Given the description of an element on the screen output the (x, y) to click on. 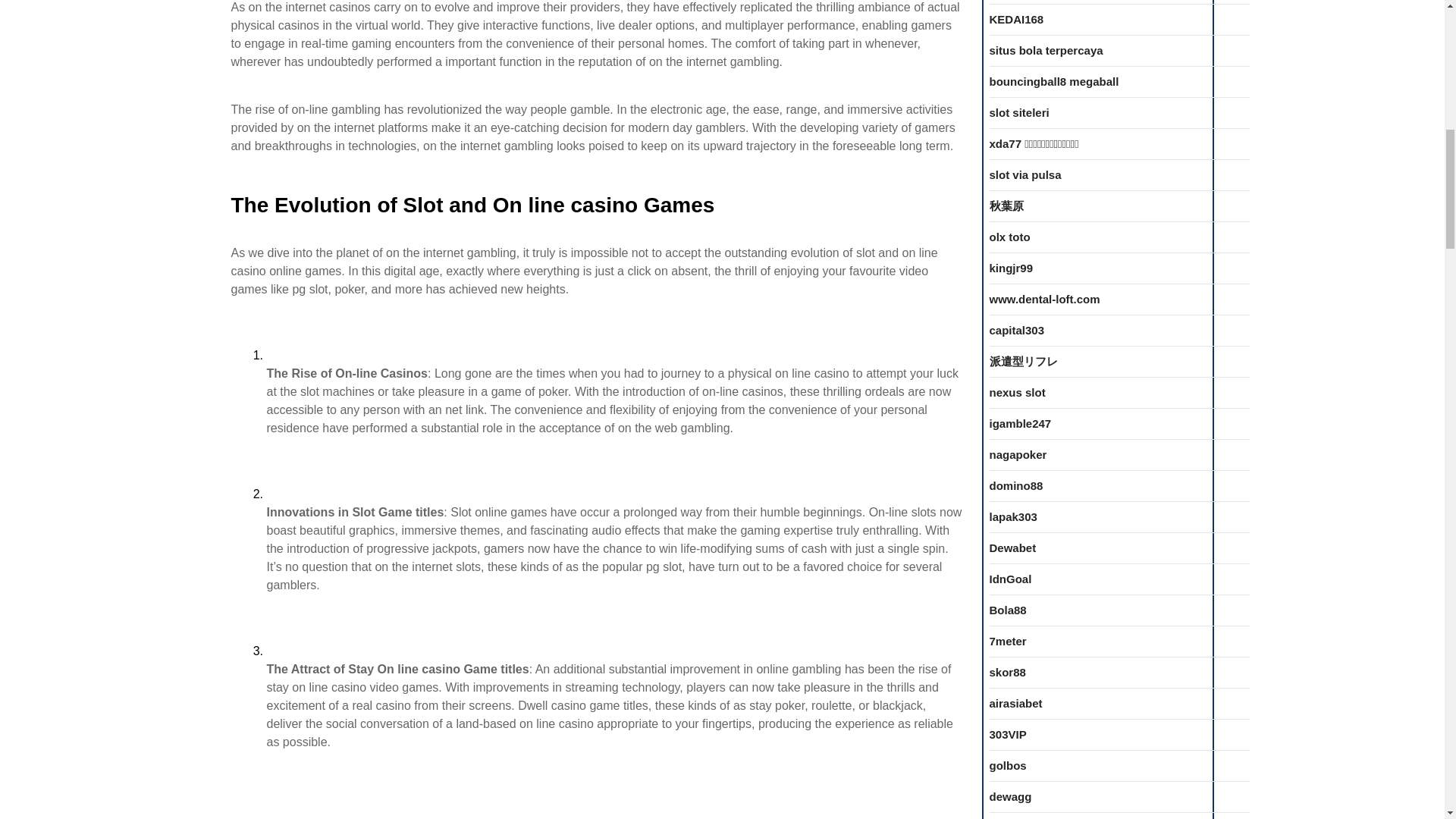
bouncingball8 megaball (1053, 81)
situs bola terpercaya (1045, 50)
KEDAI168 (1015, 19)
slot siteleri (1018, 112)
slot via pulsa (1024, 174)
